Given the description of an element on the screen output the (x, y) to click on. 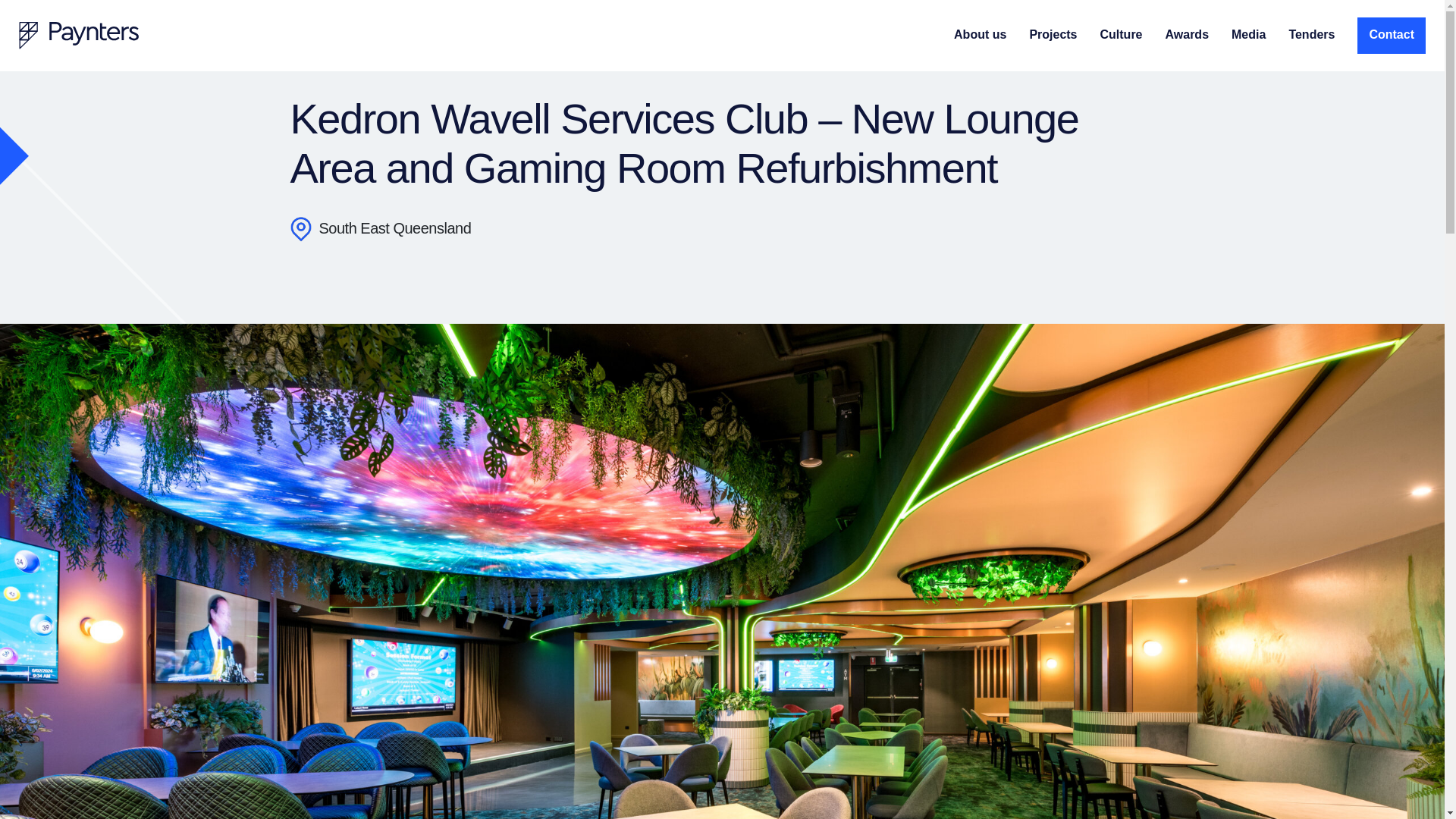
Tenders (1311, 35)
About us (979, 35)
Awards (1187, 35)
Media (1248, 35)
Contact (1390, 35)
Projects (1053, 35)
Culture (1121, 35)
